Given the description of an element on the screen output the (x, y) to click on. 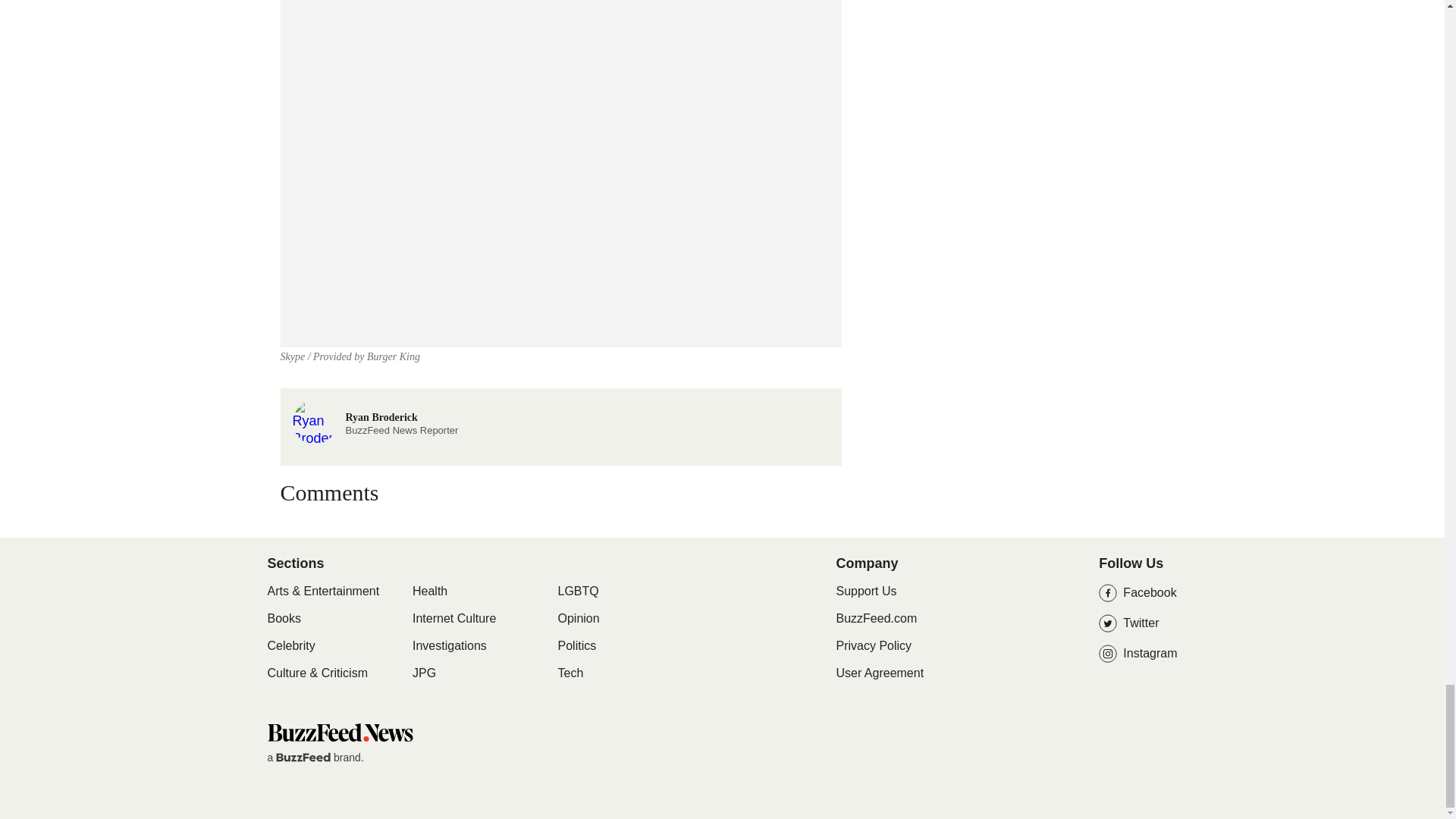
Facebook (1137, 592)
BuzzFeed (303, 757)
Politics (576, 645)
Tech (570, 672)
Twitter (1137, 623)
a BuzzFeed brand. (314, 757)
BuzzFeed.com (876, 617)
Privacy Policy (873, 645)
BuzzFeed News Home (339, 737)
Support Us (865, 590)
